Given the description of an element on the screen output the (x, y) to click on. 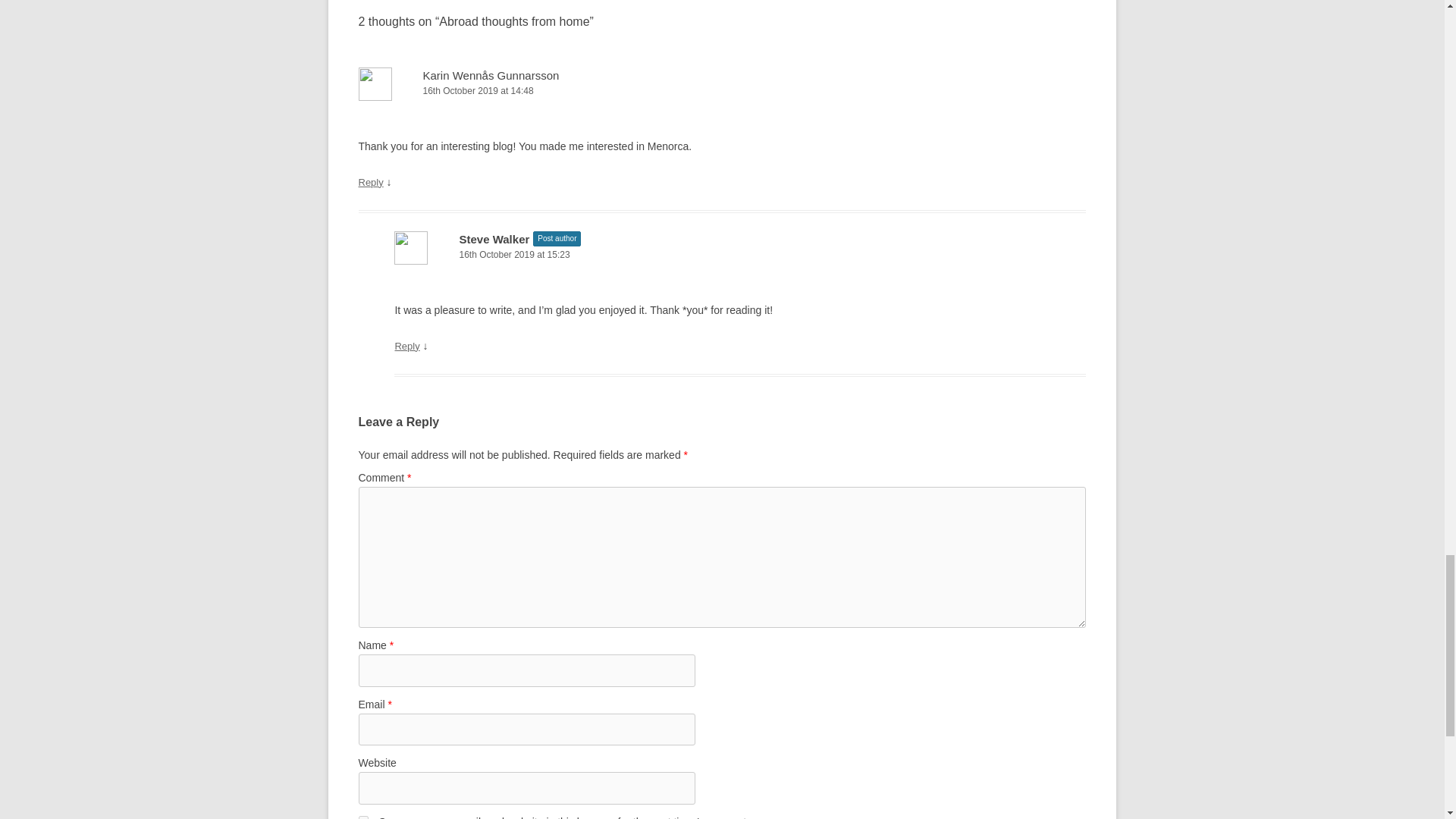
Reply (370, 182)
16th October 2019 at 14:48 (722, 91)
Reply (406, 346)
Steve Walker (493, 238)
yes (363, 817)
16th October 2019 at 15:23 (740, 254)
